Given the description of an element on the screen output the (x, y) to click on. 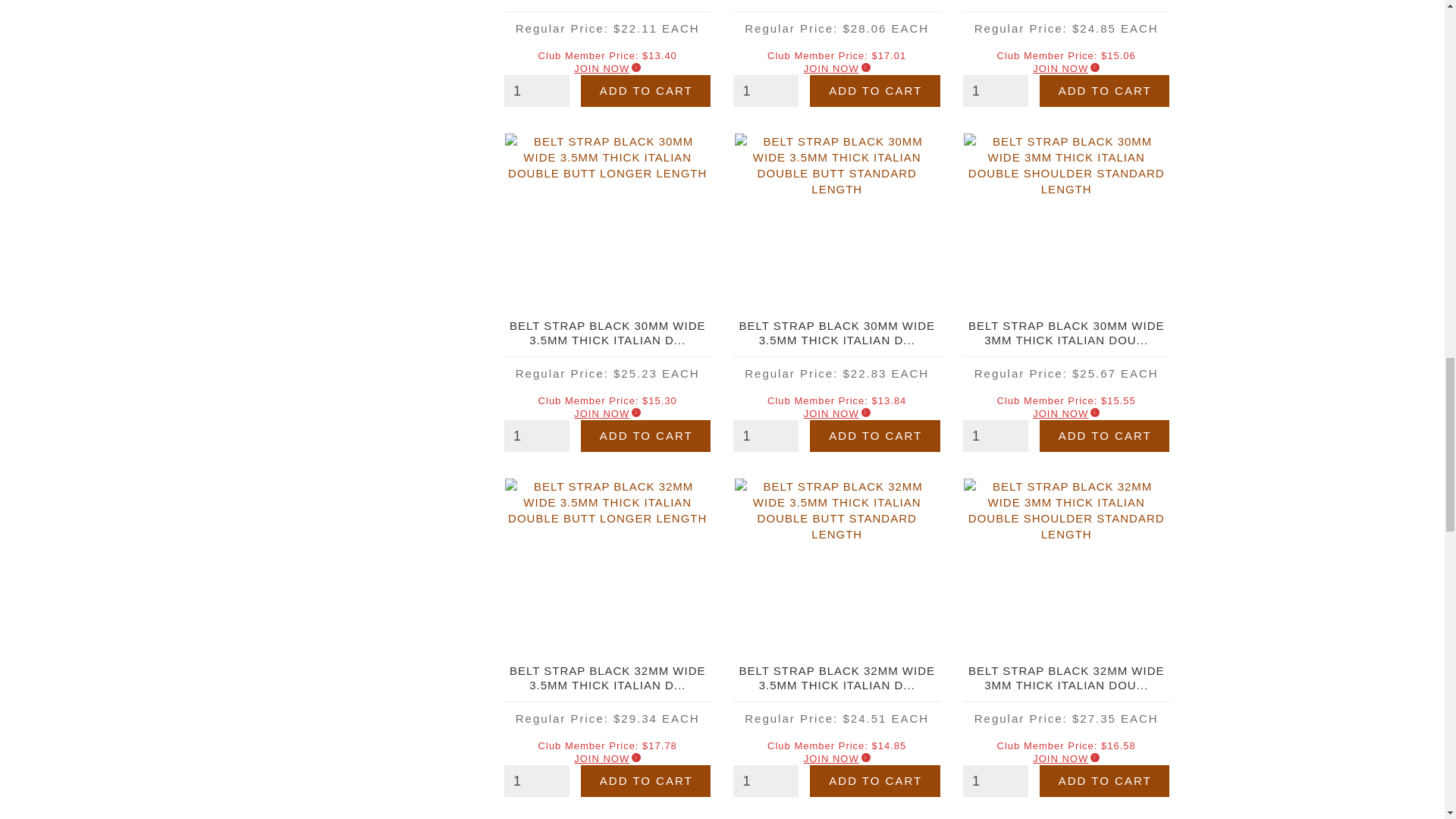
1 (765, 91)
1 (765, 780)
1 (536, 780)
1 (994, 780)
1 (536, 91)
1 (994, 436)
1 (536, 436)
1 (765, 436)
1 (994, 91)
